Given the description of an element on the screen output the (x, y) to click on. 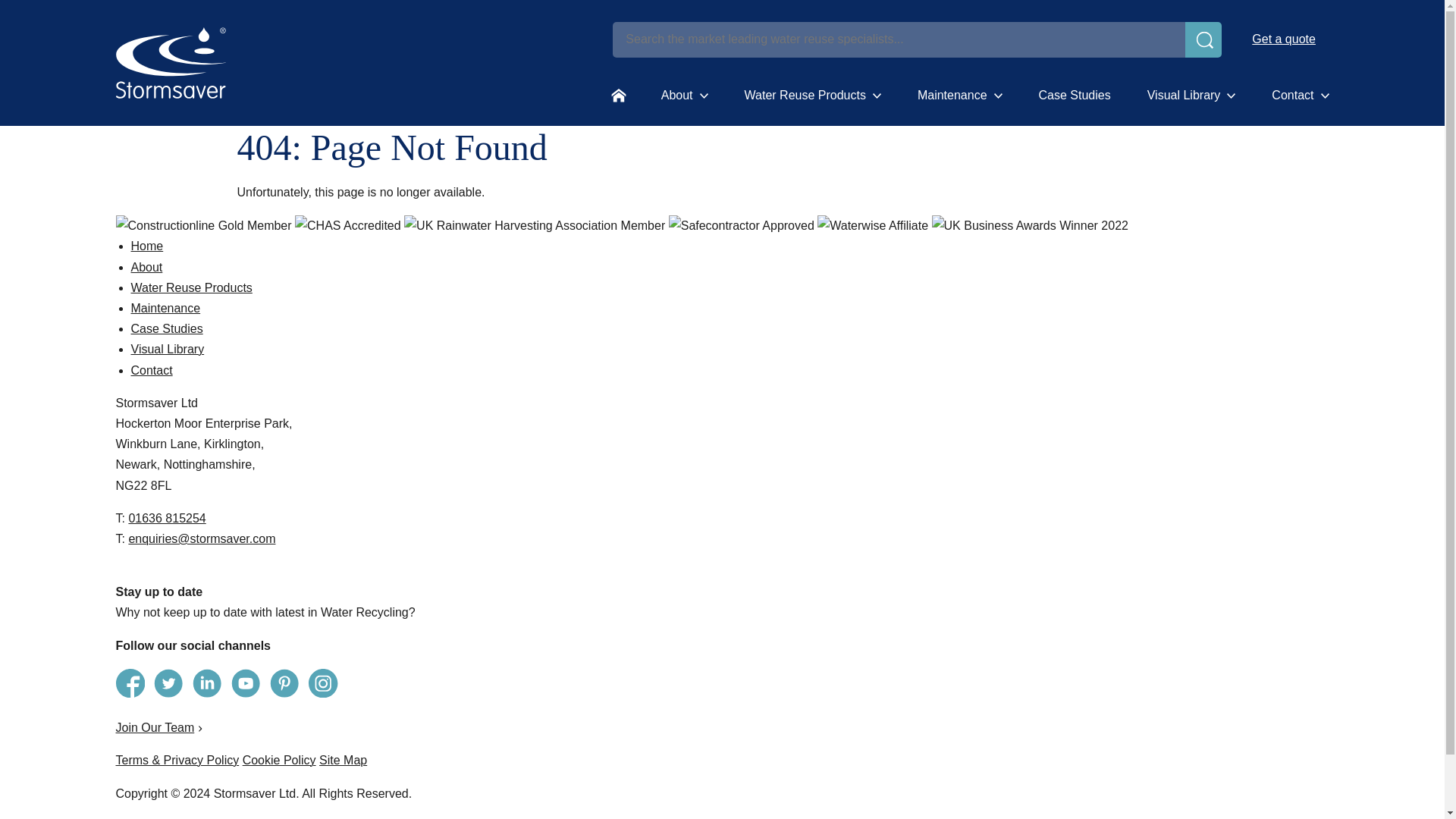
Get a quote (1284, 39)
Maintenance (960, 95)
Water Reuse Products (812, 95)
